Given the description of an element on the screen output the (x, y) to click on. 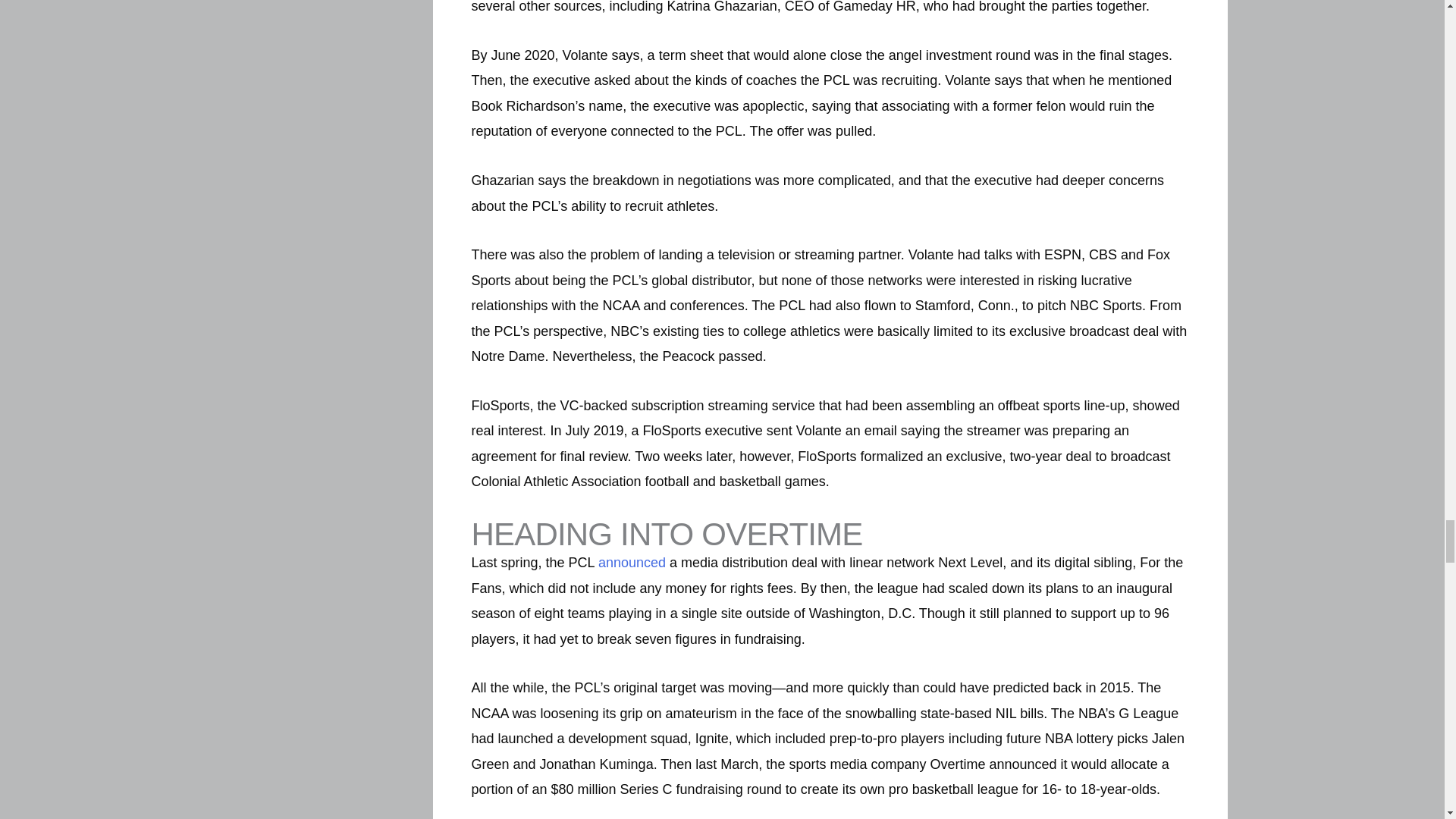
announced (631, 562)
